Given the description of an element on the screen output the (x, y) to click on. 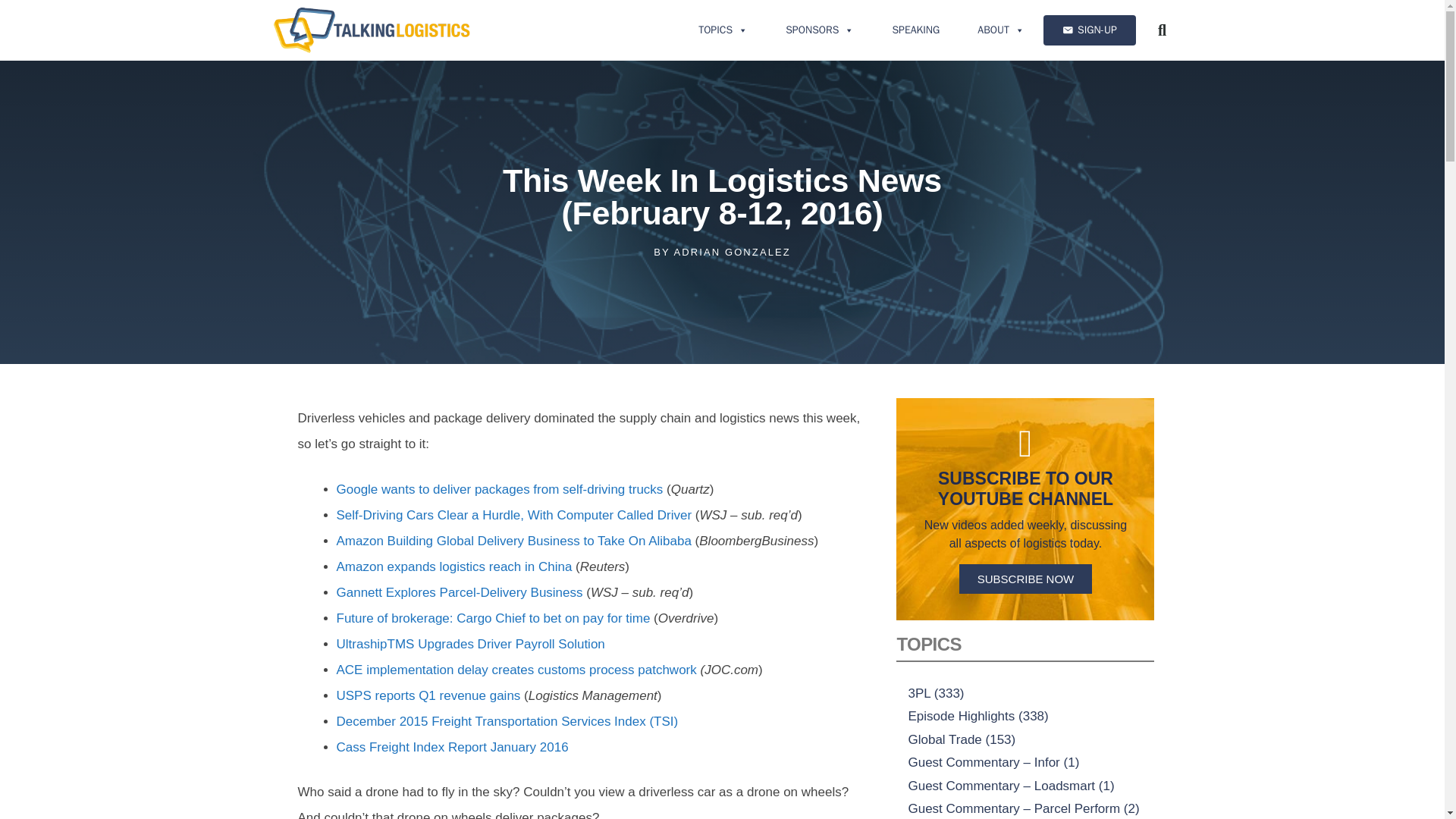
SIGN-UP (1089, 30)
SPEAKING (915, 30)
SPONSORS (819, 30)
TOPICS (723, 30)
ABOUT (1000, 30)
